Given the description of an element on the screen output the (x, y) to click on. 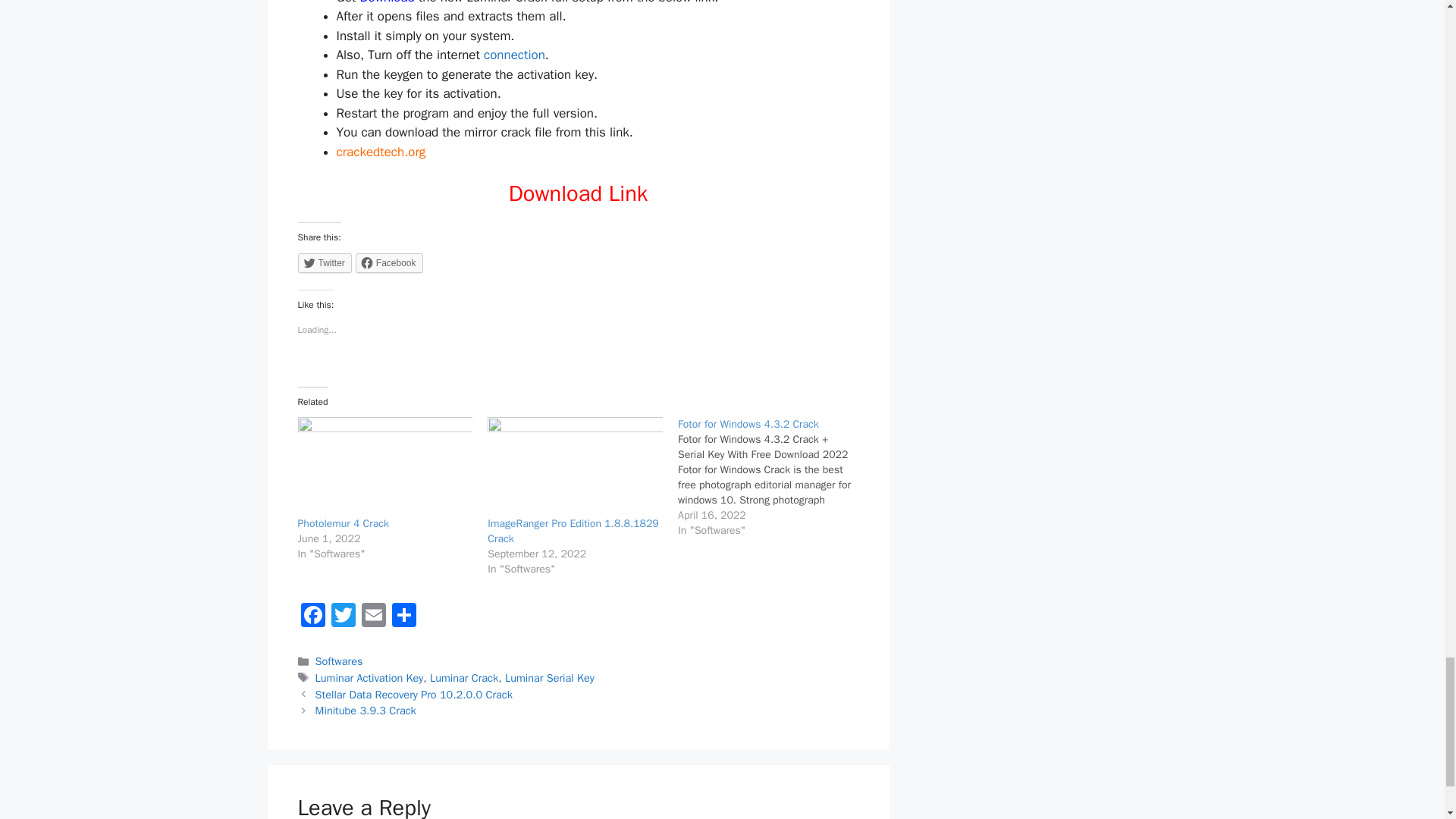
Luminar Serial Key (549, 677)
ImageRanger Pro Edition 1.8.8.1829 Crack (572, 530)
Twitter (323, 262)
Facebook (312, 616)
Photolemur 4 Crack (342, 522)
Click to share on Twitter (323, 262)
Fotor for Windows 4.3.2 Crack (748, 423)
Email (373, 616)
Facebook (389, 262)
Photolemur 4 Crack (342, 522)
Minitube 3.9.3 Crack (365, 710)
Luminar Crack (463, 677)
connection (513, 54)
ImageRanger Pro Edition 1.8.8.1829 Crack (572, 530)
Twitter (342, 616)
